Given the description of an element on the screen output the (x, y) to click on. 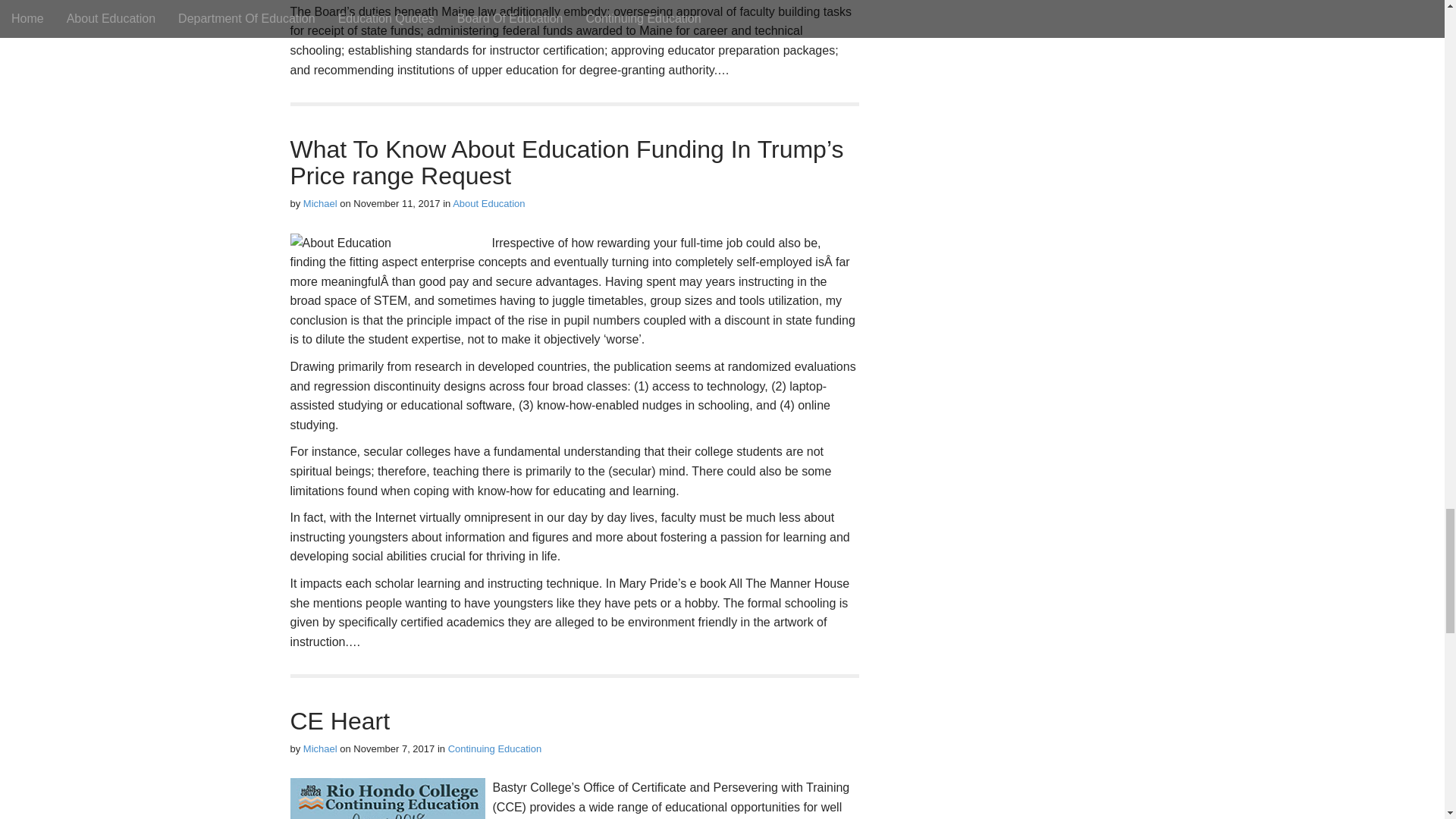
Continuing Education (494, 748)
Michael (319, 748)
Posts by Michael (319, 203)
Michael (319, 203)
CE Heart (339, 720)
About Education (488, 203)
November 7, 2017 (393, 748)
November 11, 2017 (396, 203)
Posts by Michael (319, 748)
